Given the description of an element on the screen output the (x, y) to click on. 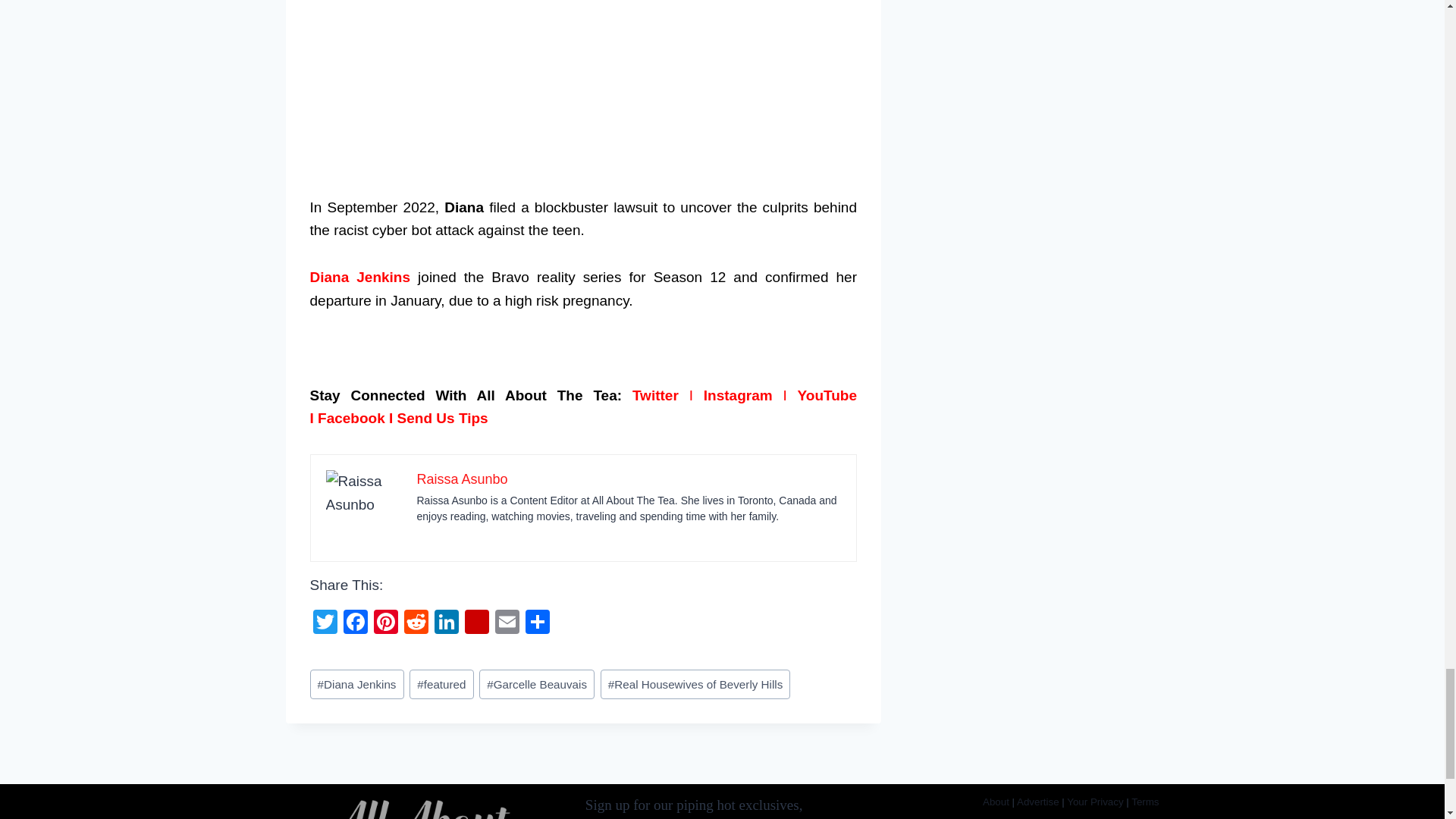
Pinterest (384, 623)
Twitter (654, 395)
Diana Jenkins (359, 277)
Instagram (738, 395)
Facebook (354, 623)
Flipboard (476, 623)
LinkedIn (445, 623)
Reddit (415, 623)
Twitter (323, 623)
